Given the description of an element on the screen output the (x, y) to click on. 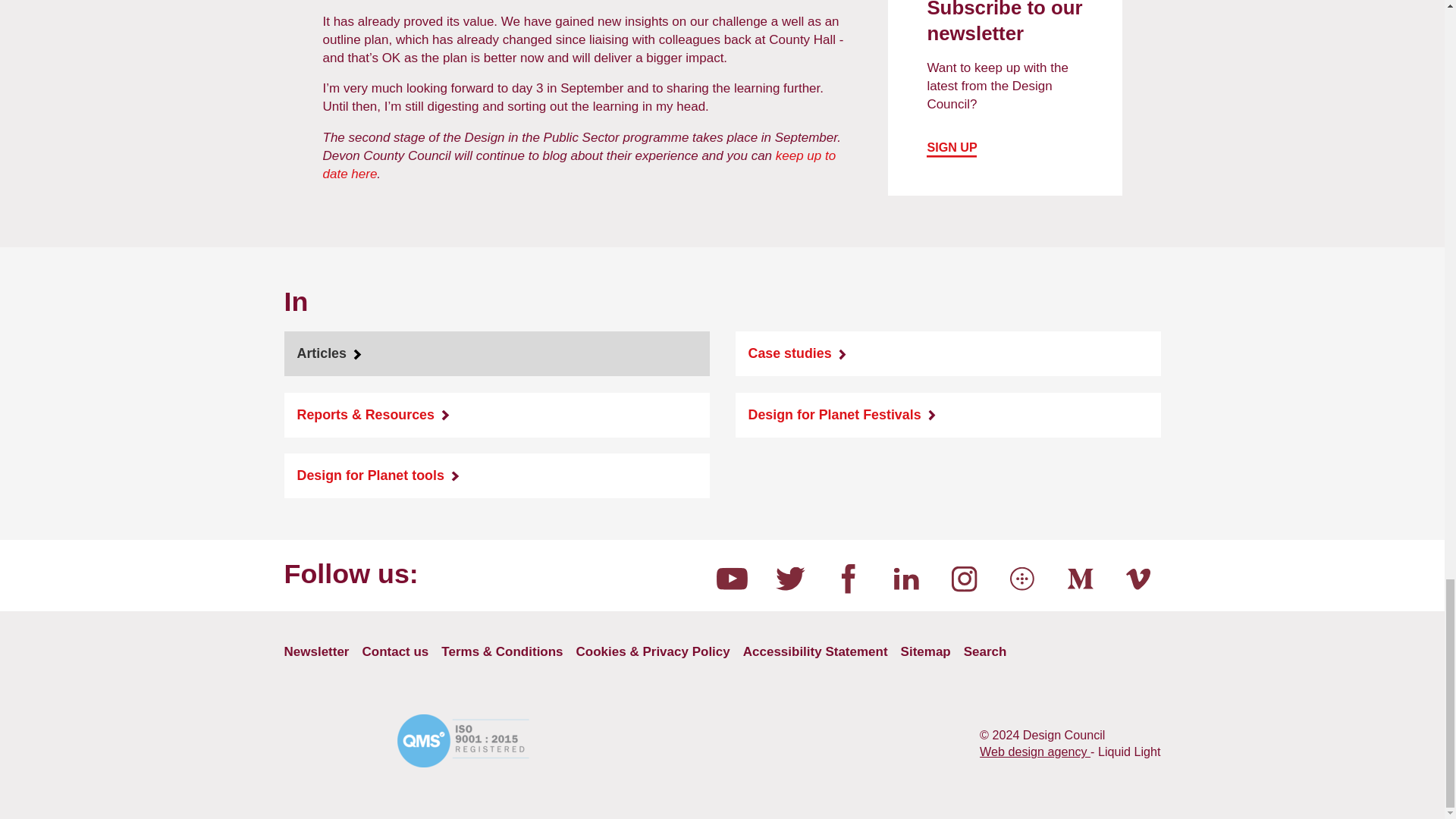
Follow Design Council on LinkedIn (905, 578)
Design Council on Instagram (964, 578)
Design Council on Medium (1079, 578)
Design Council on Facebook (847, 578)
Design Council on Vimeo (1137, 578)
Design Council on The Dots (1021, 578)
Design Council on YouTube (732, 578)
Follow Design Council on Twitter (789, 578)
